Given the description of an element on the screen output the (x, y) to click on. 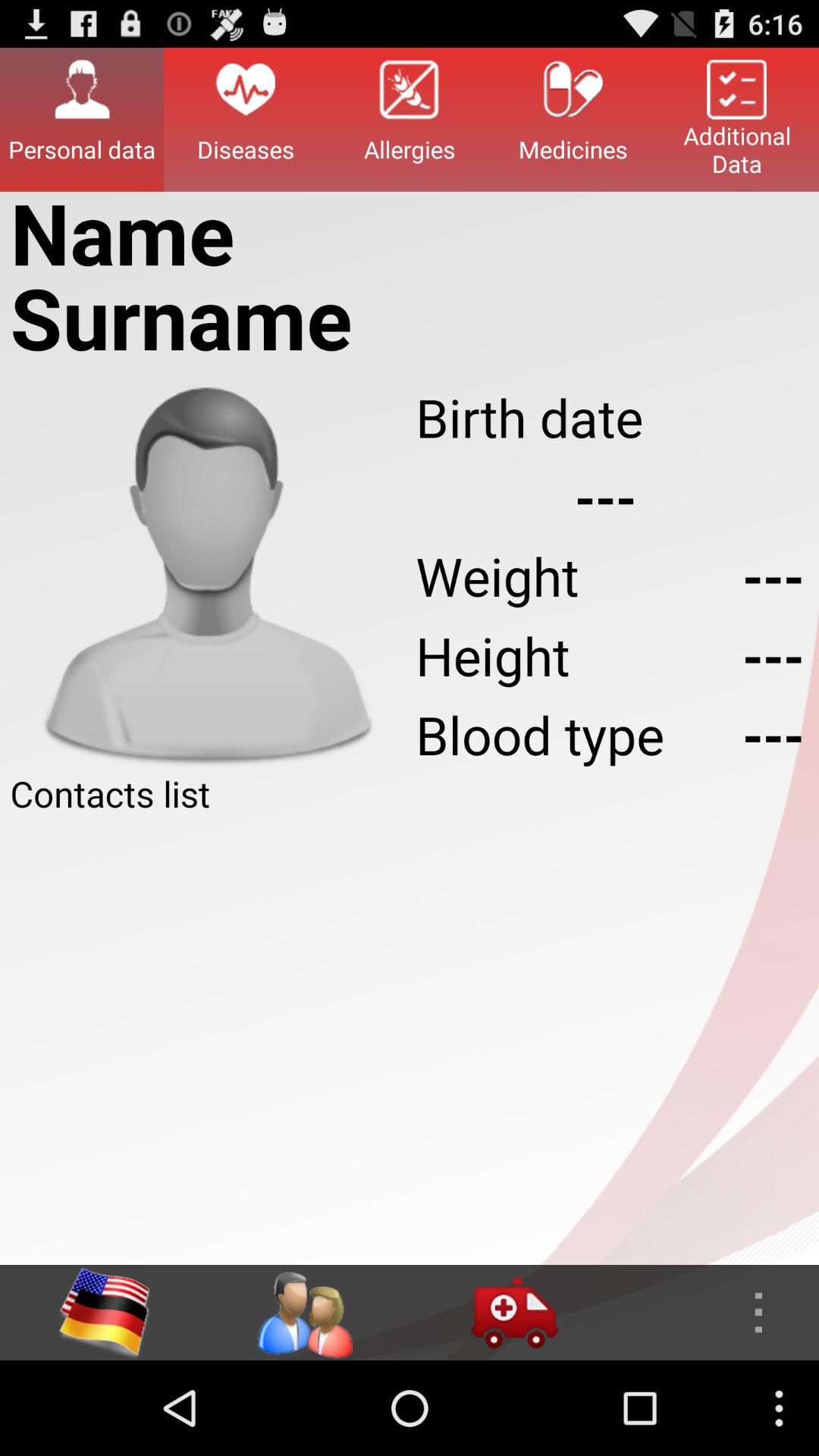
turn off diseases (245, 119)
